Given the description of an element on the screen output the (x, y) to click on. 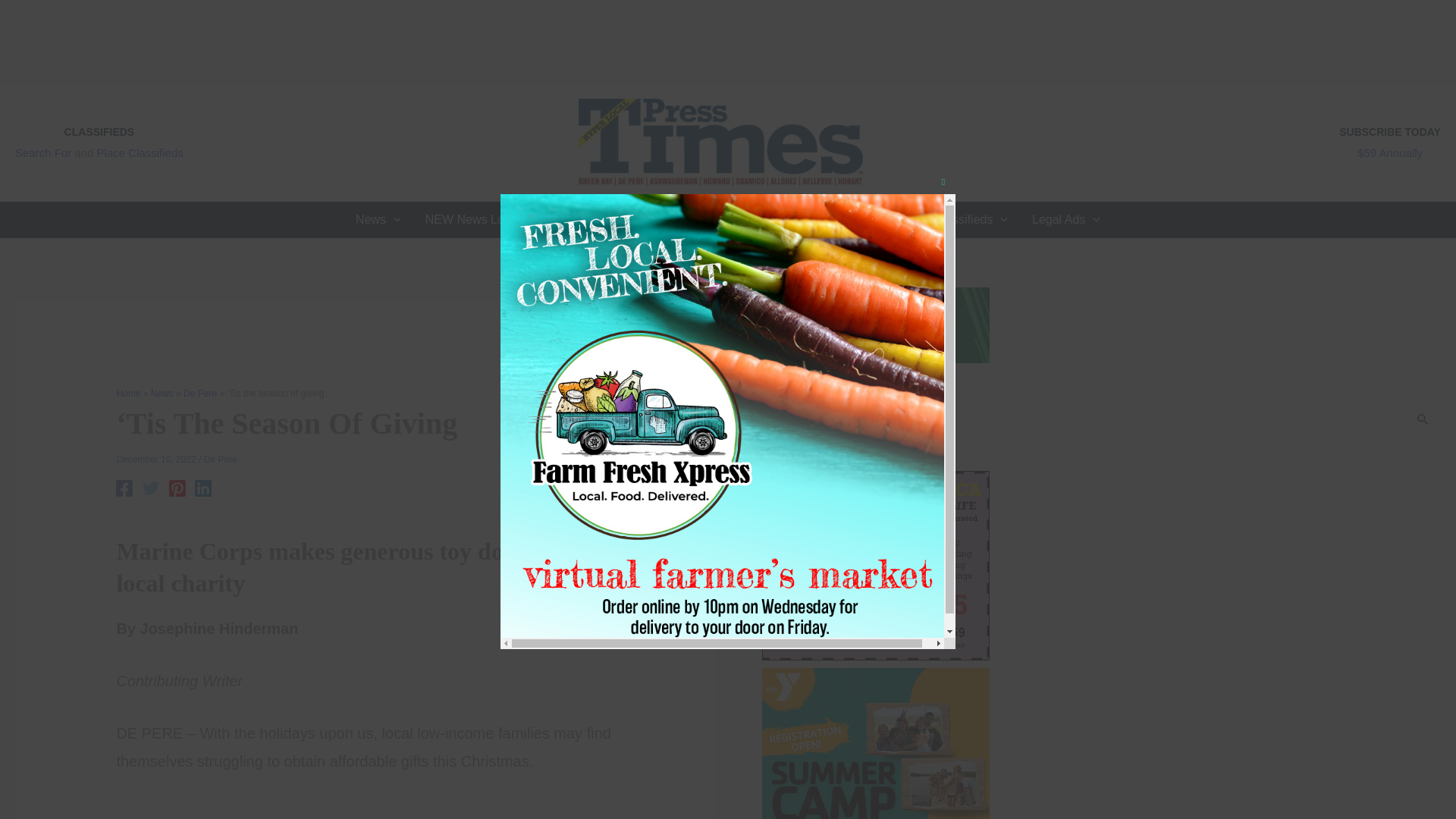
Place Classifieds (140, 152)
City Pages (637, 219)
Contact Us (879, 219)
NEW News Lab (467, 219)
Search For (42, 152)
Search (1423, 418)
News (378, 219)
Sports (559, 219)
Subscribe (799, 219)
Obituaries (719, 219)
Search (1423, 418)
